Given the description of an element on the screen output the (x, y) to click on. 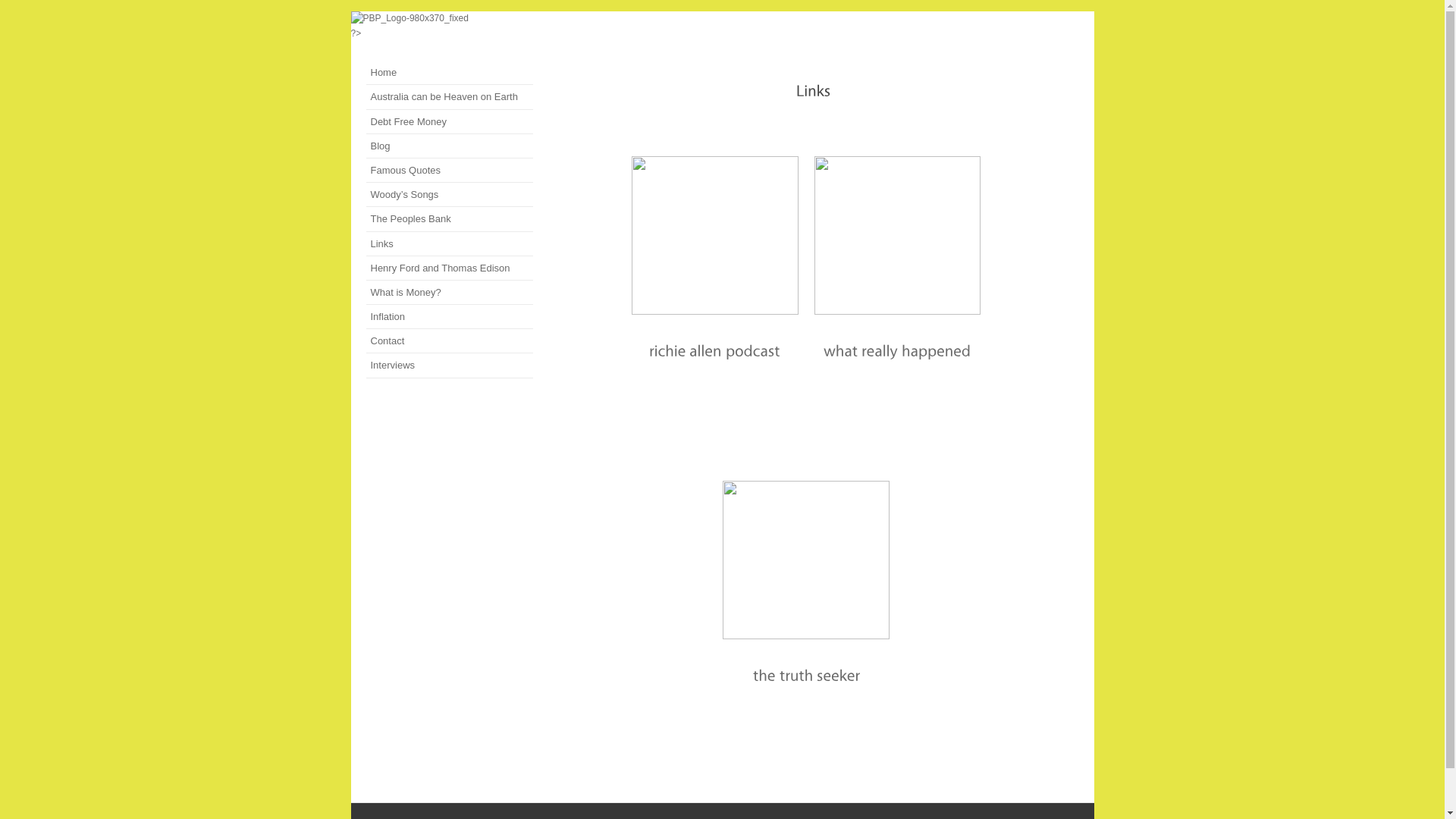
Blog Element type: text (467, 145)
What is Money? Element type: text (467, 292)
Contact Element type: text (467, 340)
Australia can be Heaven on Earth Element type: text (467, 96)
Famous Quotes Element type: text (467, 170)
The Peoples Bank Element type: text (467, 218)
Inflation Element type: text (467, 316)
Home Element type: text (467, 72)
Debt Free Money Element type: text (467, 121)
Links Element type: text (467, 243)
Henry Ford and Thomas Edison Element type: text (467, 267)
Interviews Element type: text (467, 364)
